Given the description of an element on the screen output the (x, y) to click on. 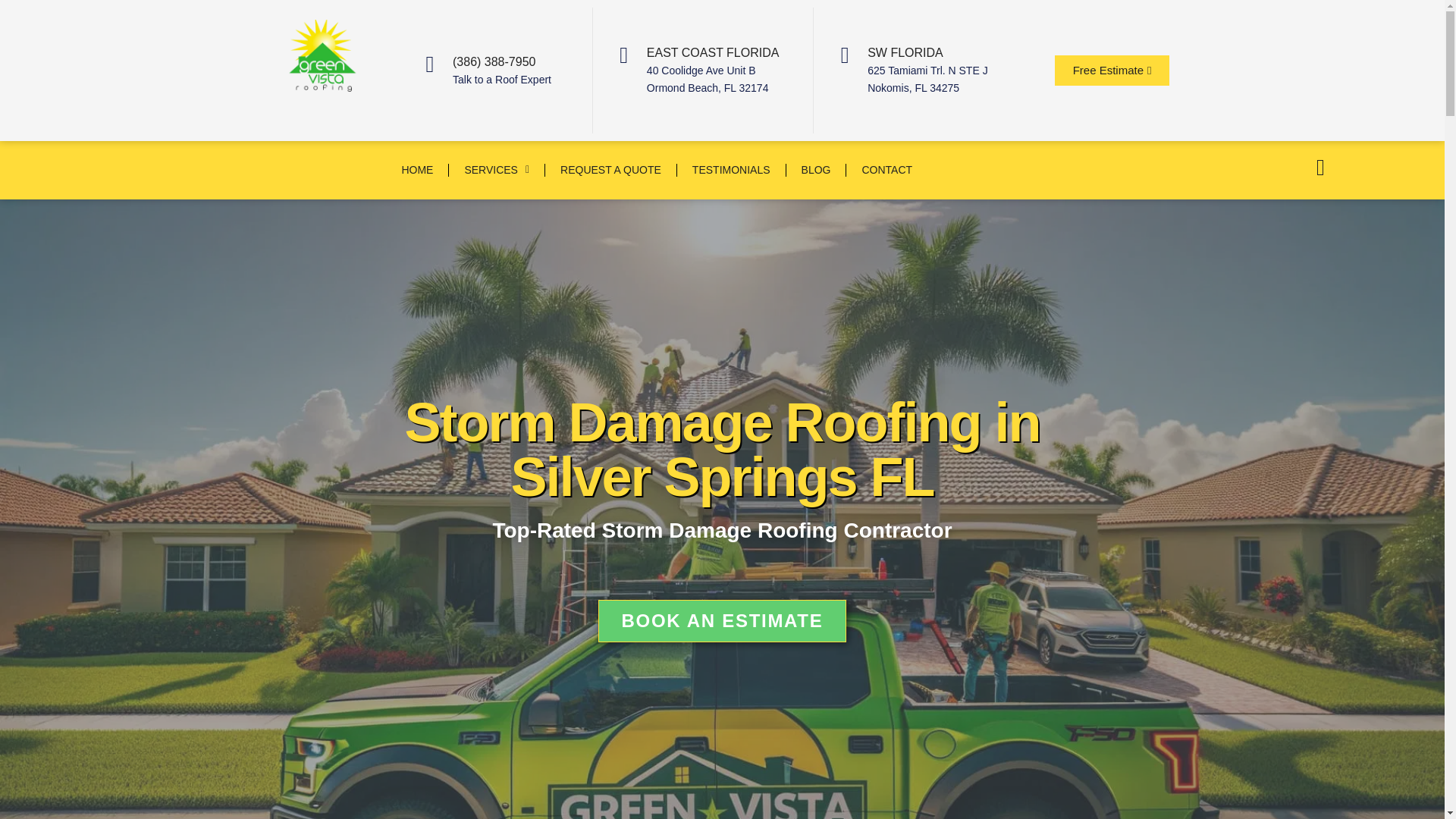
Free Estimate (1112, 70)
CONTACT (886, 140)
HOME (416, 124)
BLOG (815, 138)
REQUEST A QUOTE (610, 135)
SERVICES (496, 125)
TESTIMONIALS (731, 136)
